Given the description of an element on the screen output the (x, y) to click on. 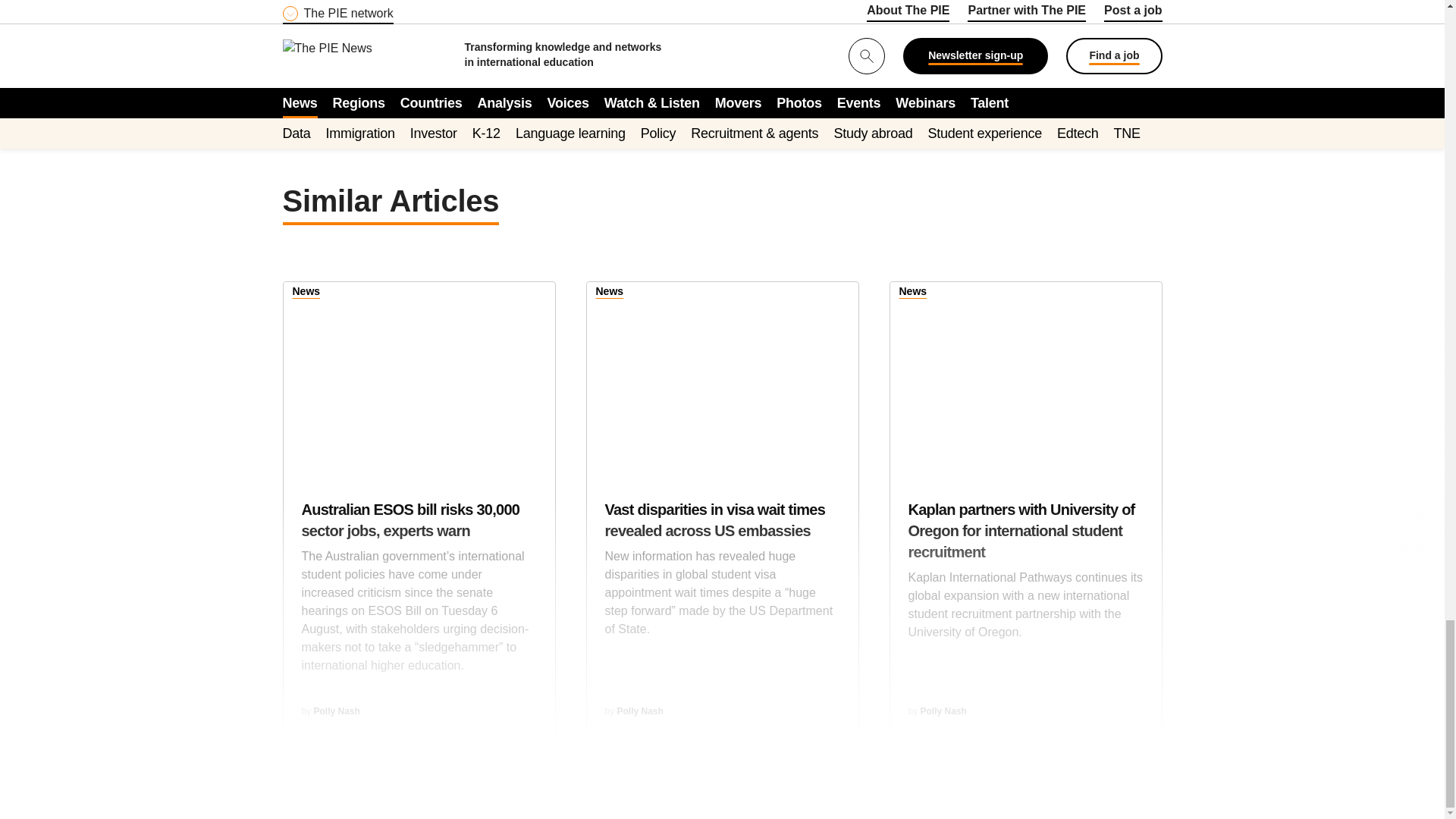
View all News articles (609, 293)
View all News articles (306, 293)
Australian ESOS bill risks 30,000 sector jobs, experts warn (419, 595)
Australian ESOS bill risks 30,000 sector jobs, experts warn (418, 375)
View all News articles (912, 293)
